Given the description of an element on the screen output the (x, y) to click on. 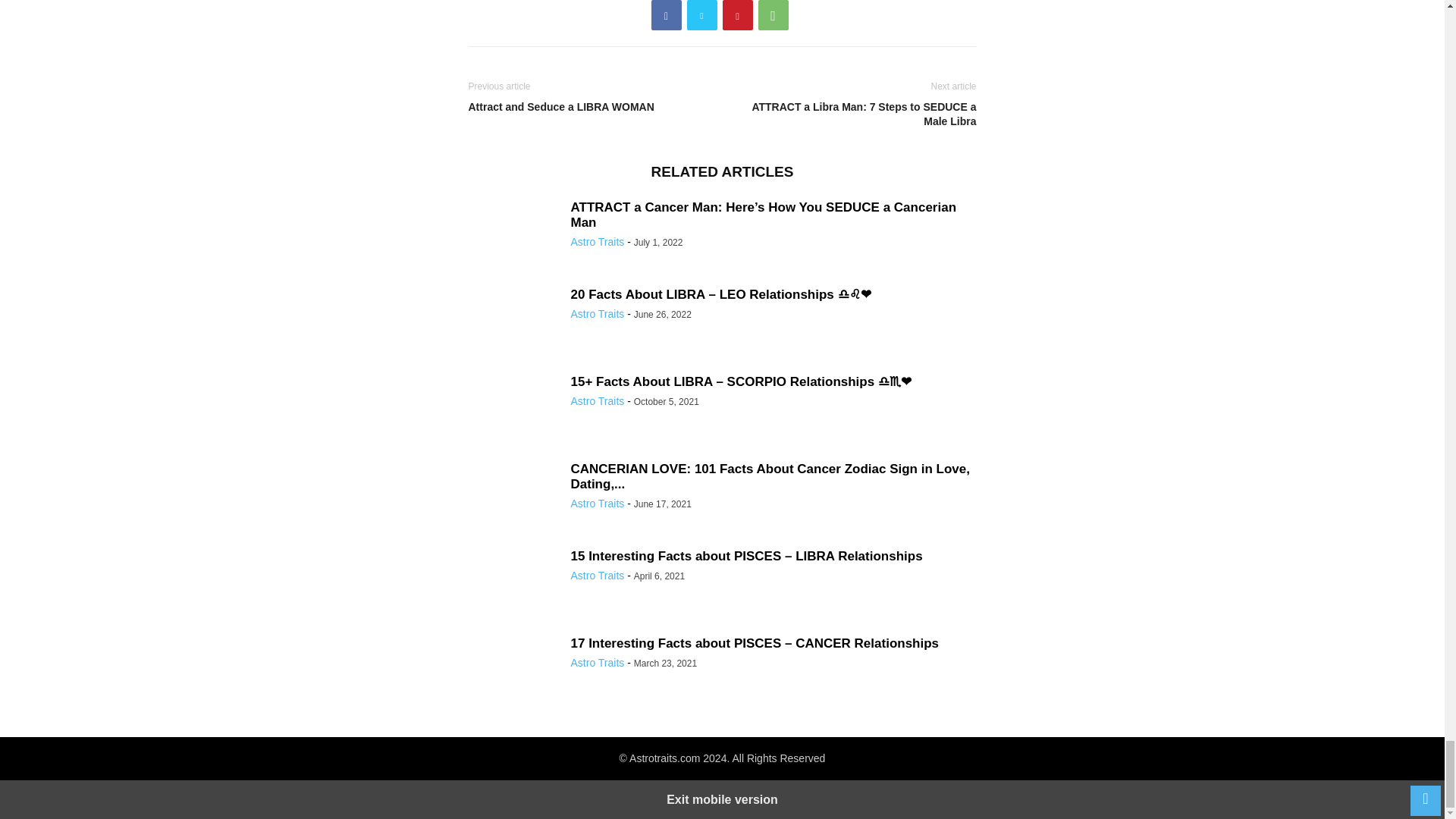
Astro Traits (597, 400)
Astro Traits (597, 575)
Attract and Seduce a LIBRA WOMAN (591, 106)
Astro Traits (597, 241)
ATTRACT a Libra Man: 7 Steps to SEDUCE a Male Libra (852, 113)
Astro Traits (597, 503)
Pinterest (737, 15)
Twitter (702, 15)
Facebook (665, 15)
WhatsApp (773, 15)
Astro Traits (597, 313)
